Given the description of an element on the screen output the (x, y) to click on. 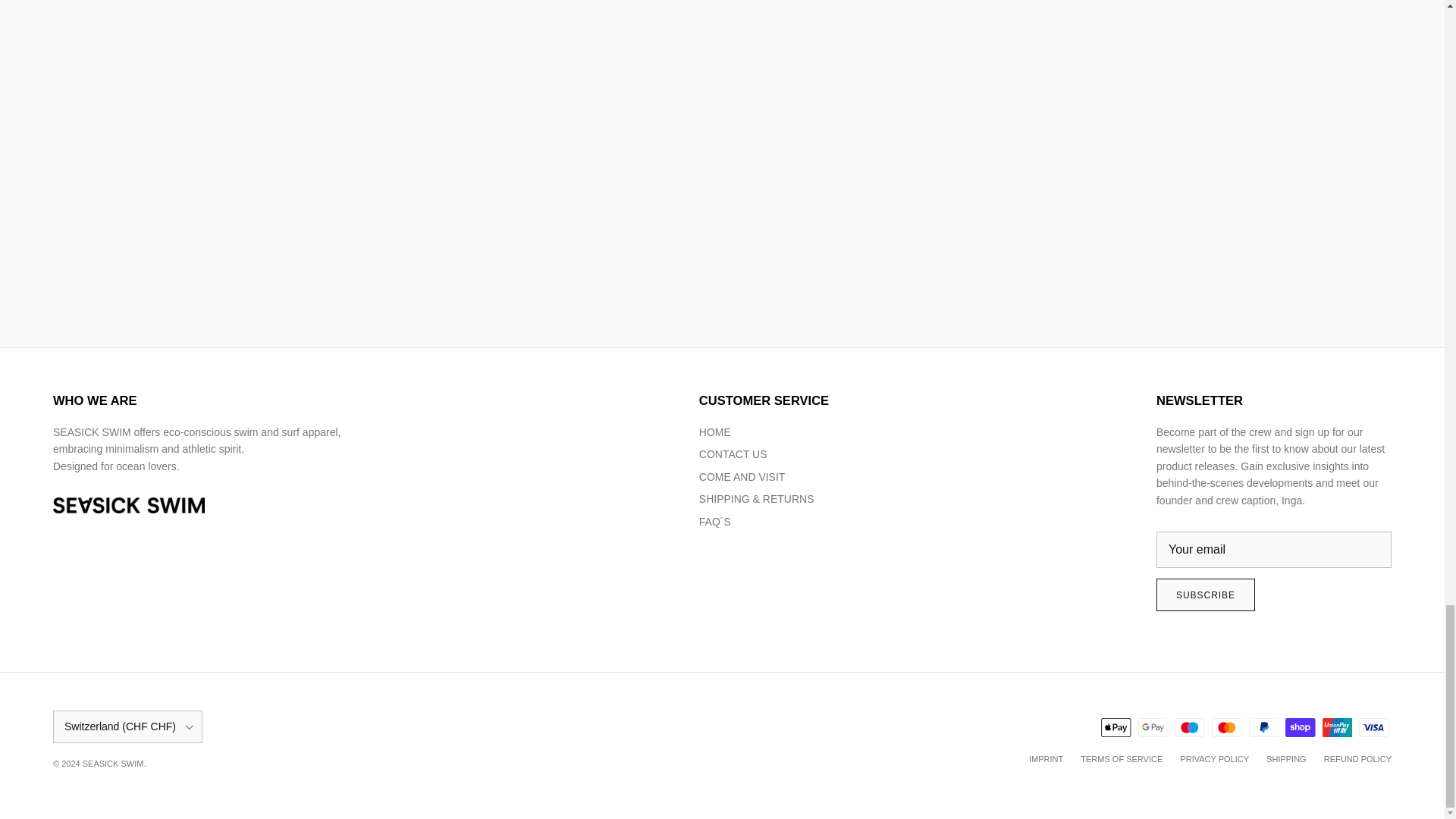
PayPal (1262, 727)
Apple Pay (1115, 727)
Maestro (1189, 727)
Mastercard (1226, 727)
Visa (1373, 727)
Union Pay (1337, 727)
Google Pay (1152, 727)
Shop Pay (1299, 727)
